Given the description of an element on the screen output the (x, y) to click on. 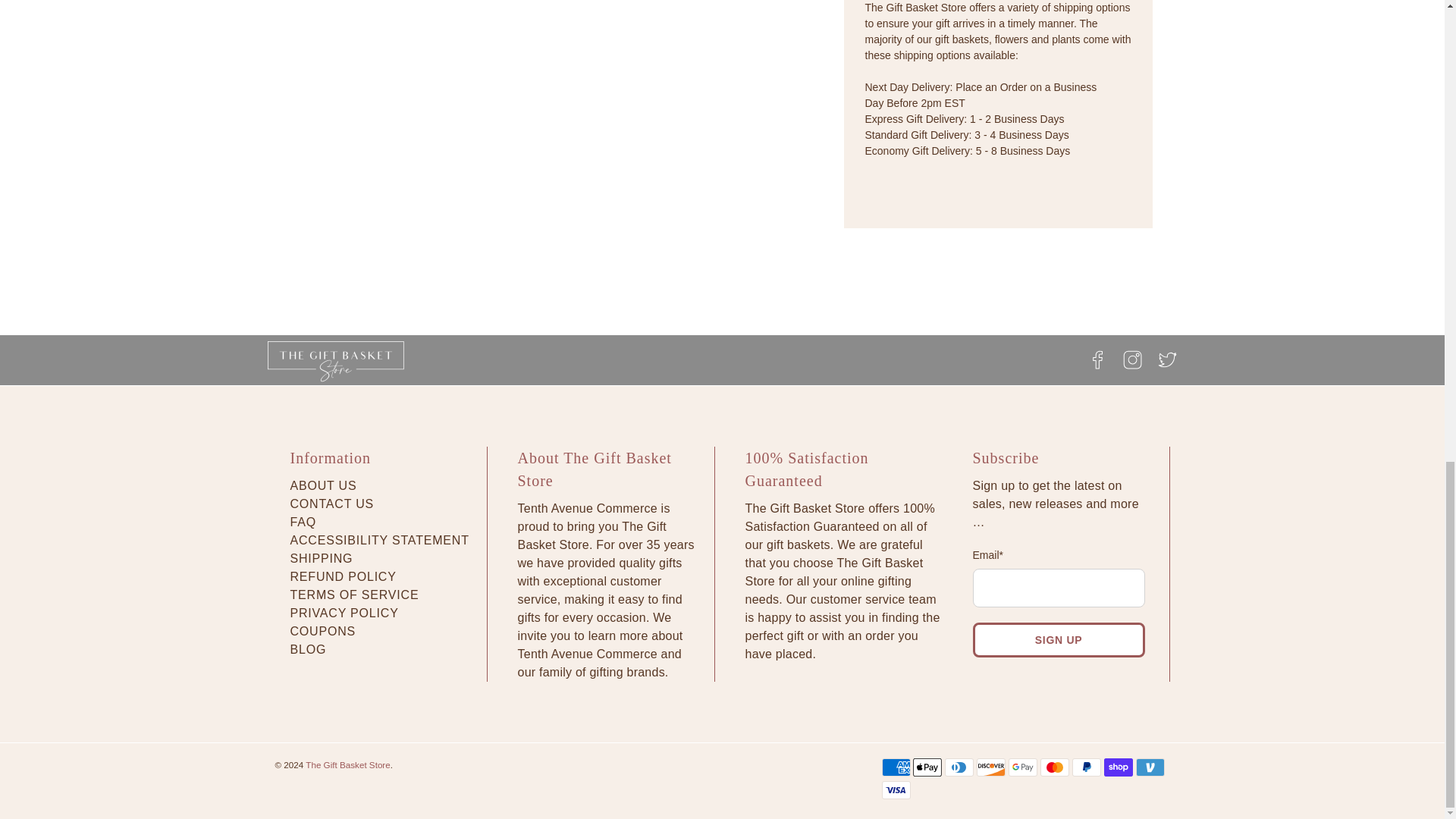
Google Pay (1022, 767)
Mastercard (1054, 767)
American Express (895, 767)
Apple Pay (927, 767)
Venmo (1149, 767)
Shop Pay (1117, 767)
PayPal (1085, 767)
Discover (991, 767)
Visa (895, 790)
Diners Club (959, 767)
